Given the description of an element on the screen output the (x, y) to click on. 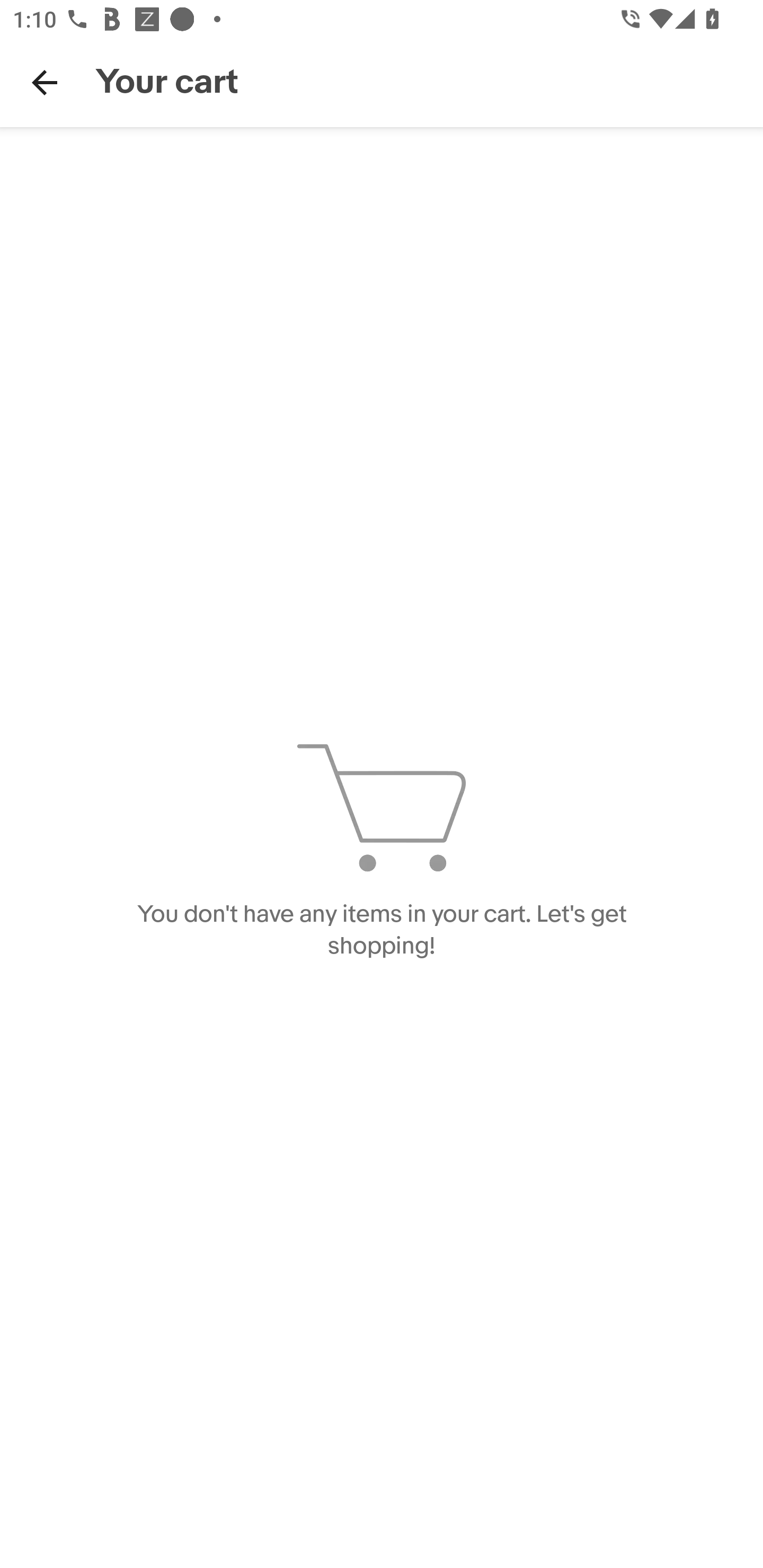
Navigate up (44, 82)
